Given the description of an element on the screen output the (x, y) to click on. 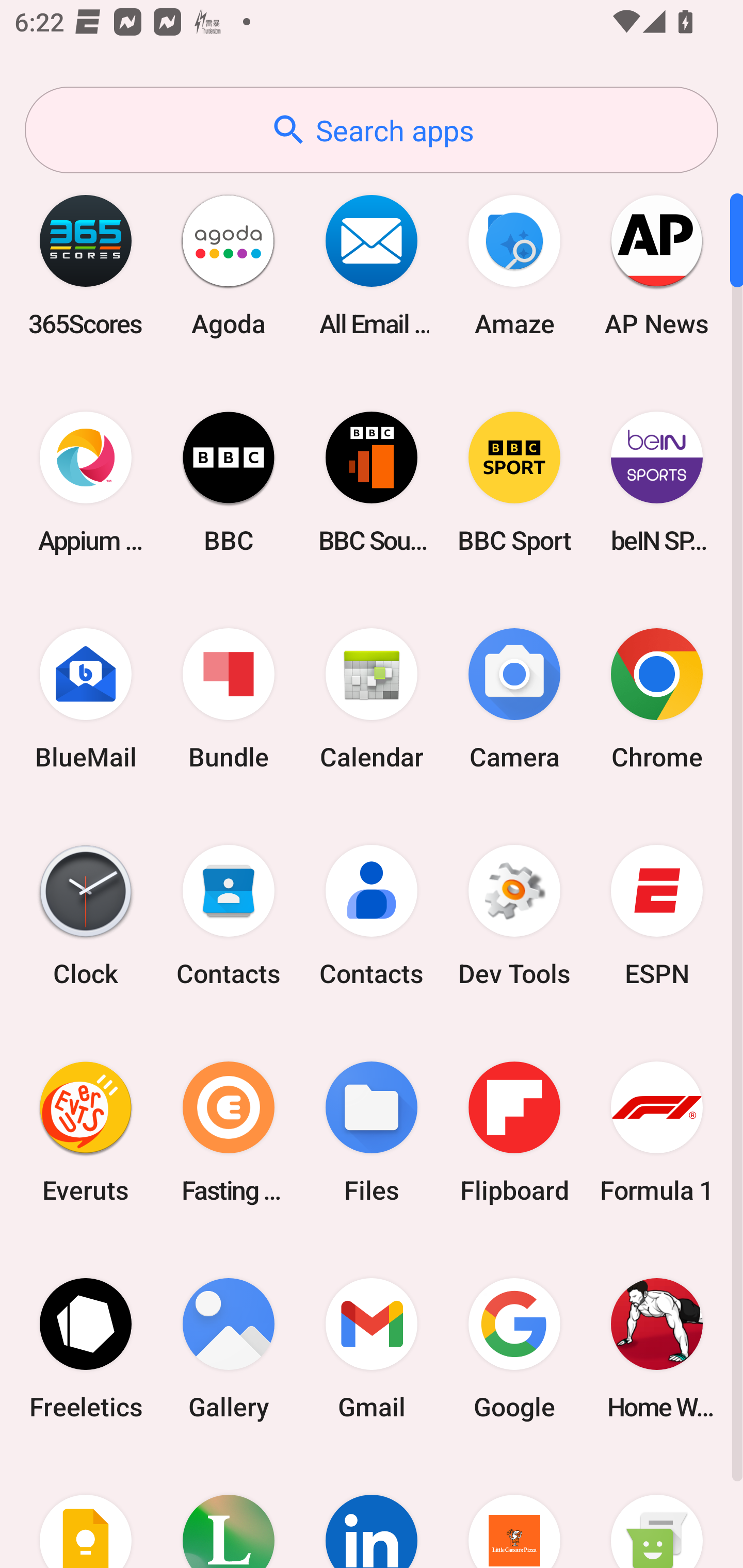
  Search apps (371, 130)
365Scores (85, 264)
Agoda (228, 264)
All Email Connect (371, 264)
Amaze (514, 264)
AP News (656, 264)
Appium Settings (85, 482)
BBC (228, 482)
BBC Sounds (371, 482)
BBC Sport (514, 482)
beIN SPORTS (656, 482)
BlueMail (85, 699)
Bundle (228, 699)
Calendar (371, 699)
Camera (514, 699)
Chrome (656, 699)
Clock (85, 915)
Contacts (228, 915)
Contacts (371, 915)
Dev Tools (514, 915)
ESPN (656, 915)
Everuts (85, 1131)
Fasting Coach (228, 1131)
Files (371, 1131)
Flipboard (514, 1131)
Formula 1 (656, 1131)
Freeletics (85, 1348)
Gallery (228, 1348)
Gmail (371, 1348)
Google (514, 1348)
Home Workout (656, 1348)
